Given the description of an element on the screen output the (x, y) to click on. 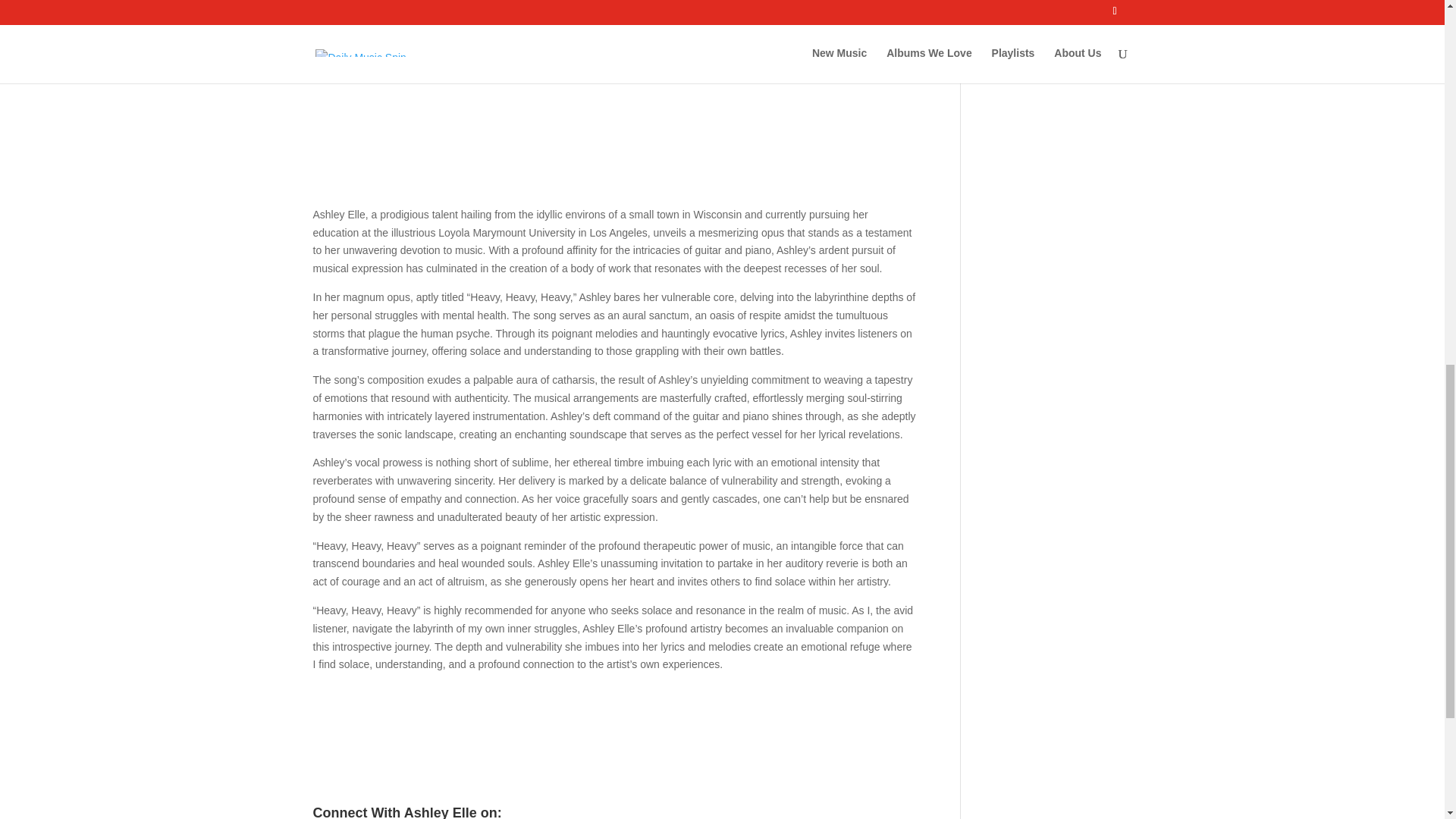
Spotify Embed: Heavy, Heavy, Heavy (614, 742)
